Given the description of an element on the screen output the (x, y) to click on. 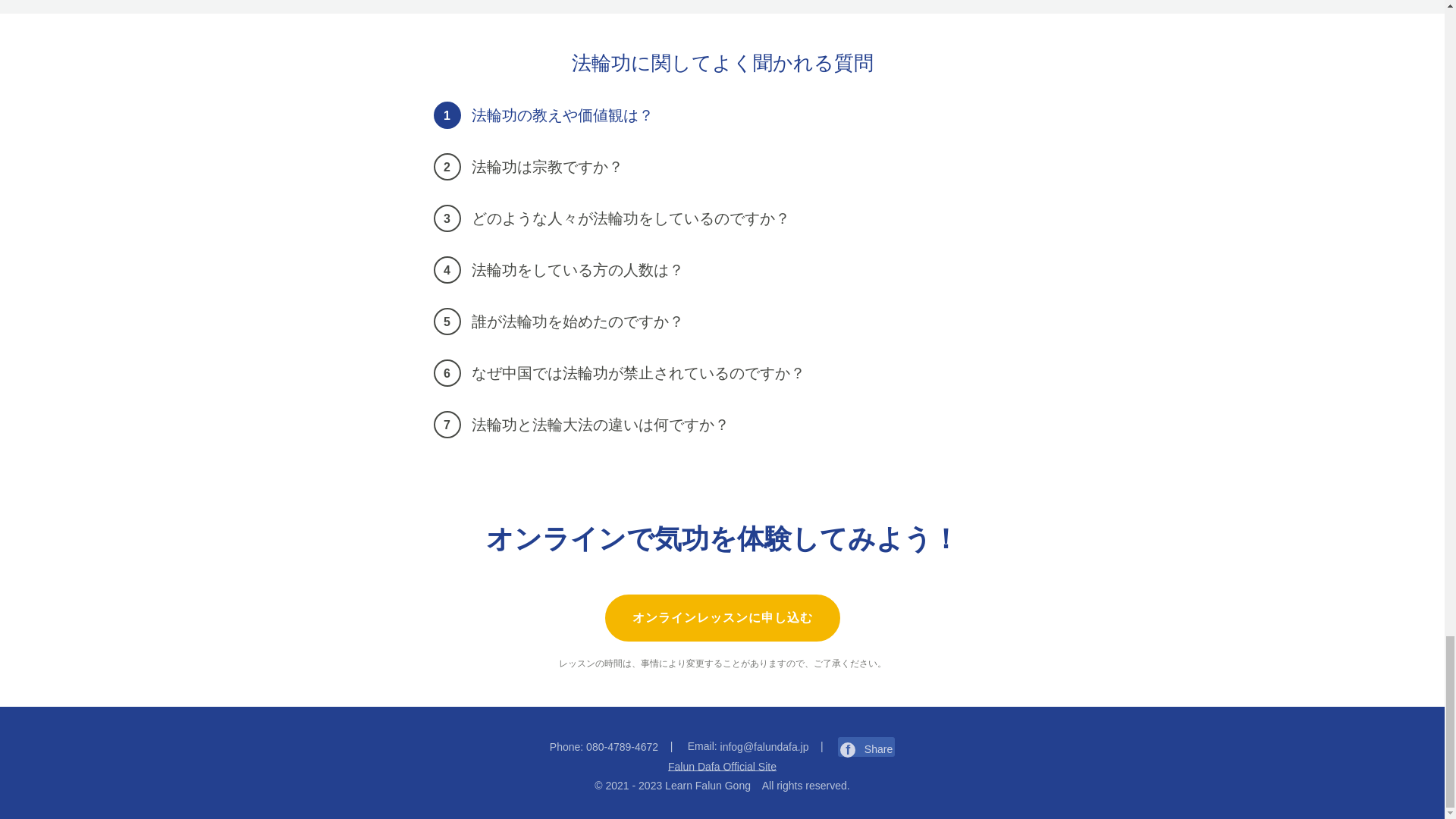
Falun Dafa Official Site (722, 767)
Phone: 080-4789-4672 (604, 746)
f   Share (866, 748)
